Given the description of an element on the screen output the (x, y) to click on. 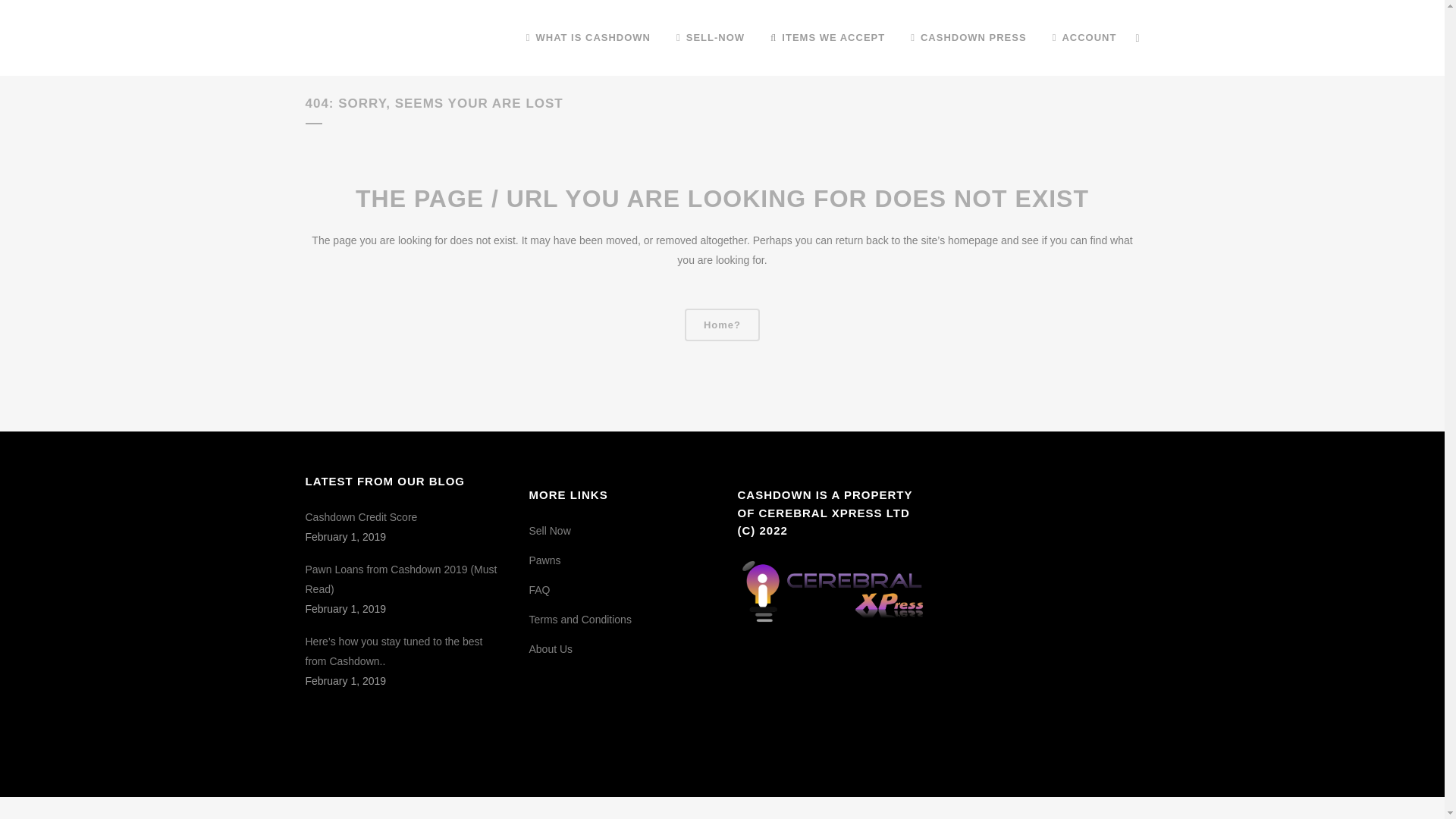
ITEMS WE ACCEPT (827, 38)
Pawns (544, 560)
FAQ (539, 589)
Terms and Conditions (580, 619)
CASHDOWN PRESS (968, 38)
SELL-NOW (710, 38)
About Us (551, 648)
Cashdown Credit Score (403, 516)
ACCOUNT (1084, 38)
WHAT IS CASHDOWN (588, 38)
